Given the description of an element on the screen output the (x, y) to click on. 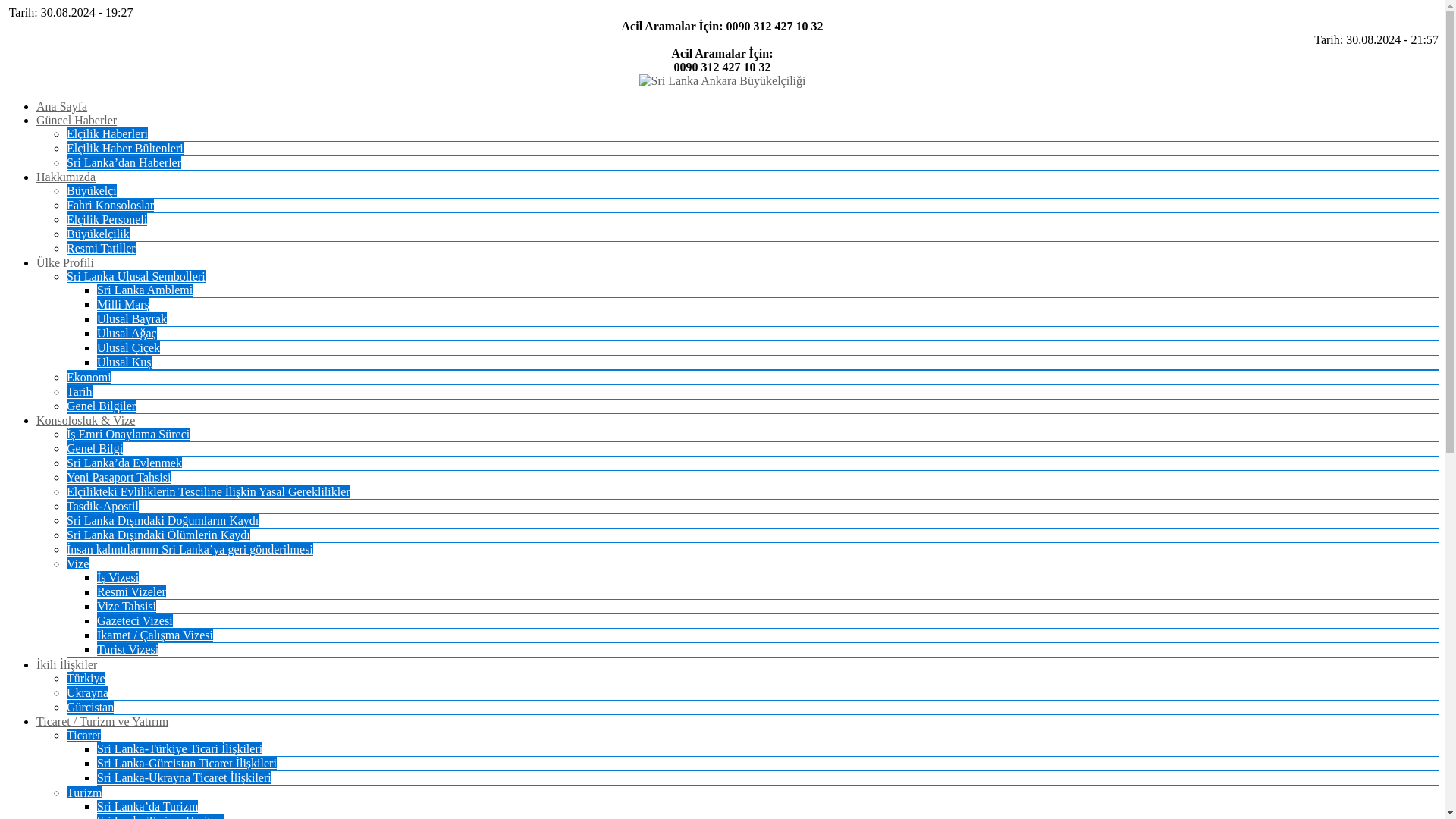
Genel Bilgiler (100, 405)
Sri Lanka Ulusal Sembolleri (135, 276)
Fahri Konsoloslar (110, 205)
Sri Lanka Amblemi (144, 289)
Turist Vizesi (127, 649)
Ulusal Bayrak (132, 318)
Vize (77, 563)
Resmi Tatiller (100, 247)
Ana Sayfa (61, 106)
Gazeteci Vizesi (135, 620)
